Given the description of an element on the screen output the (x, y) to click on. 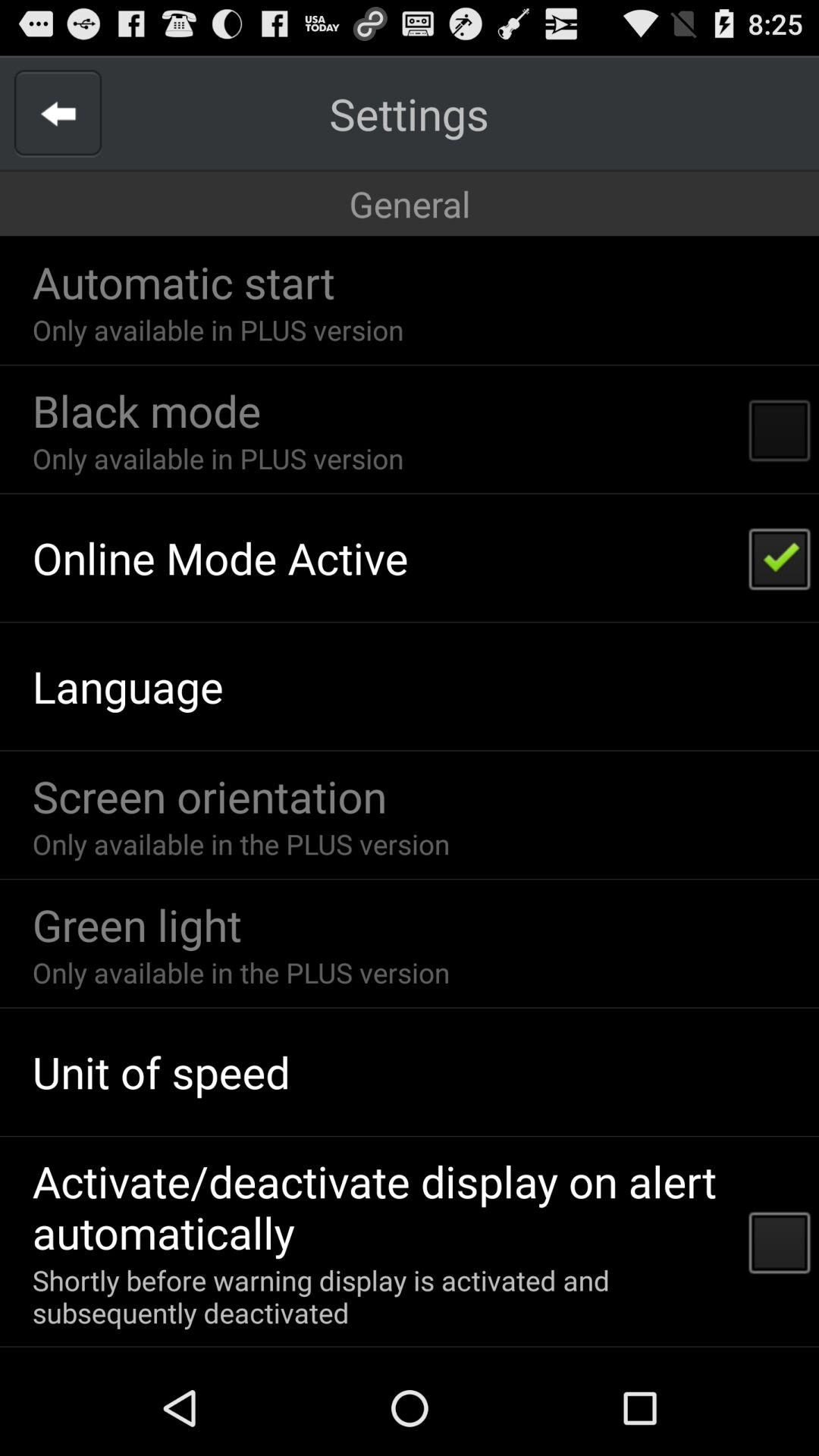
turn off app above the only available in item (183, 281)
